Given the description of an element on the screen output the (x, y) to click on. 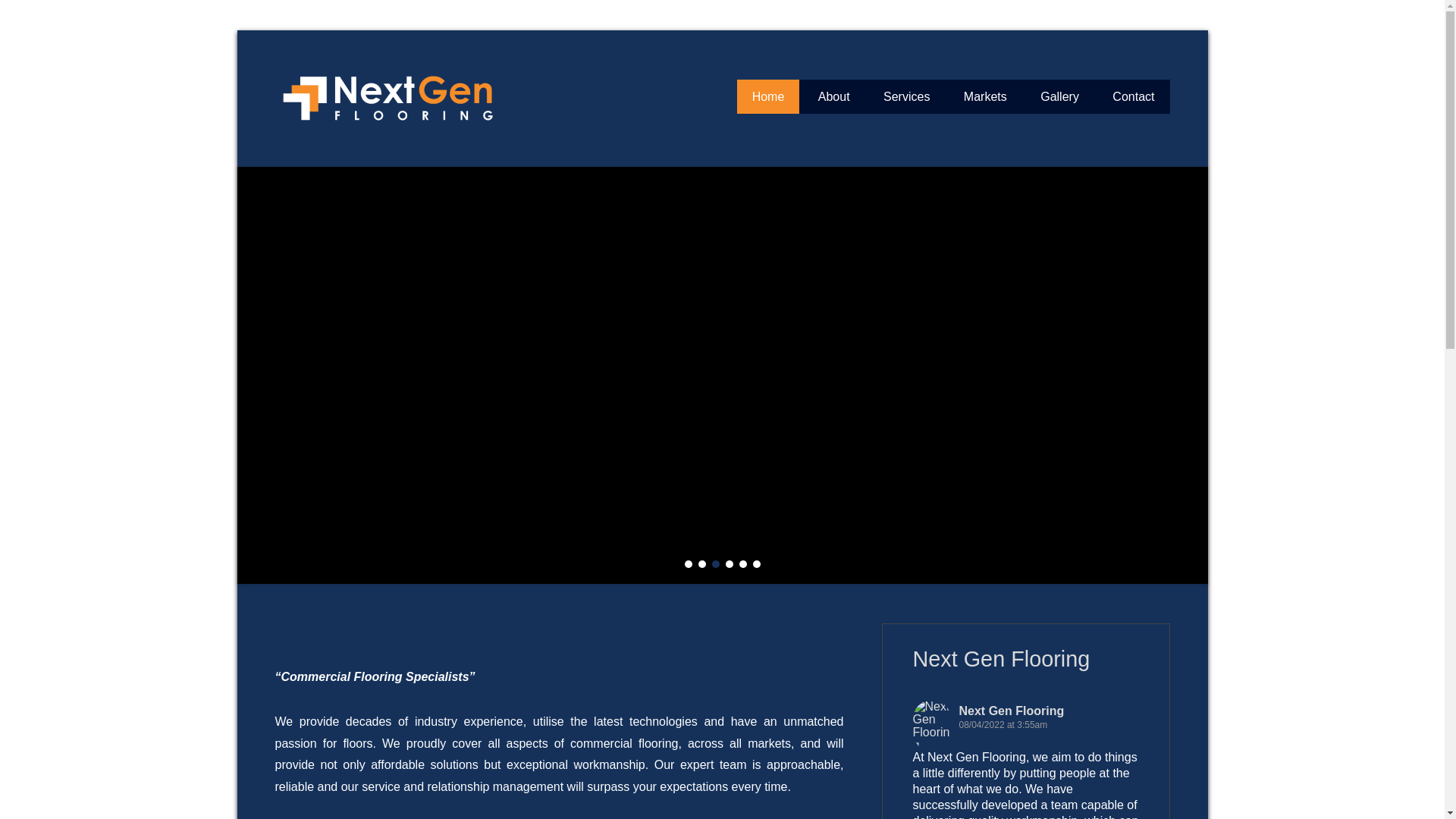
harris-scarfe Element type: hover (721, 374)
Next Gen Flooring Element type: text (1010, 710)
Home Element type: text (300, 640)
Next Gen Flooring Element type: text (632, 51)
4 Element type: text (728, 563)
Contact Element type: text (1133, 96)
Home Element type: text (768, 96)
3 Element type: text (714, 563)
Gallery Element type: text (1059, 96)
About Element type: text (834, 96)
2 Element type: text (701, 563)
Next Gen Flooring Element type: text (1001, 658)
1 Element type: text (687, 563)
Markets Element type: text (985, 96)
6 Element type: text (755, 563)
Services Element type: text (906, 96)
admin Element type: text (427, 668)
Skip to content Element type: text (777, 89)
5 Element type: text (742, 563)
